Given the description of an element on the screen output the (x, y) to click on. 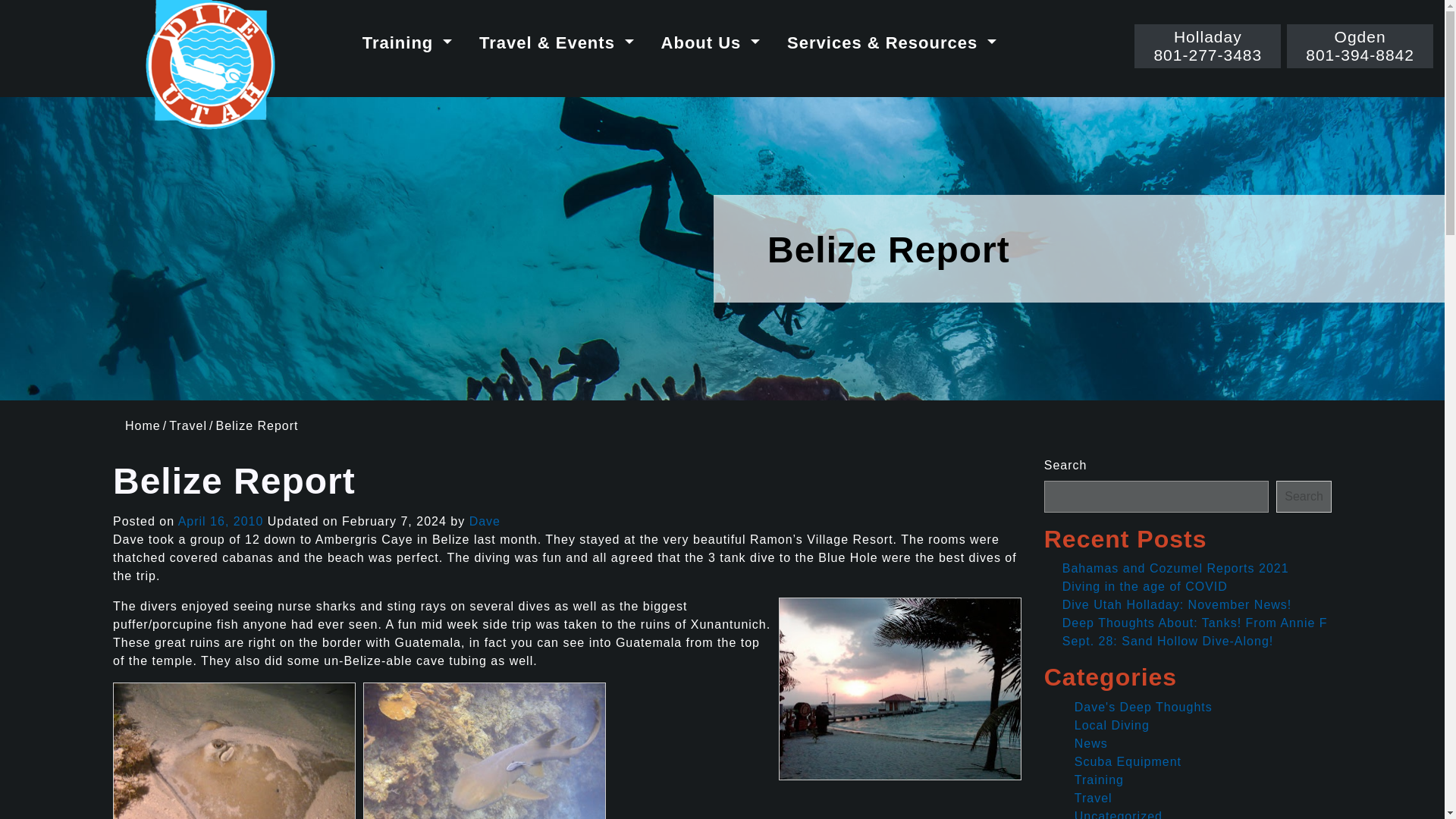
Home (142, 425)
About Us (711, 42)
Training (407, 42)
Training (407, 42)
Dave (484, 521)
Diving in the age of COVID (1144, 585)
Travel (1207, 45)
Search (187, 425)
